Given the description of an element on the screen output the (x, y) to click on. 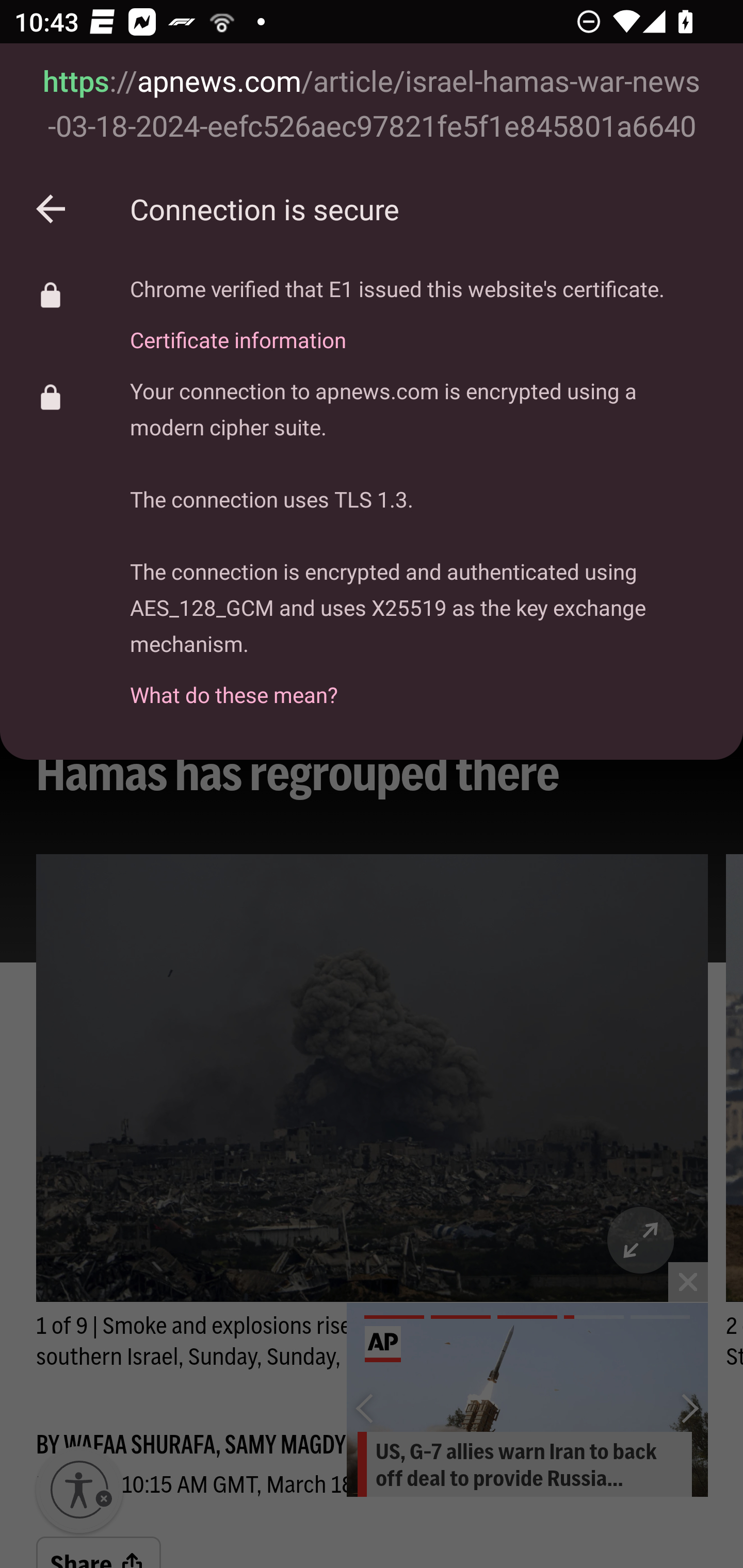
Back (50, 209)
Certificate information (397, 328)
What do these mean? (422, 683)
